Given the description of an element on the screen output the (x, y) to click on. 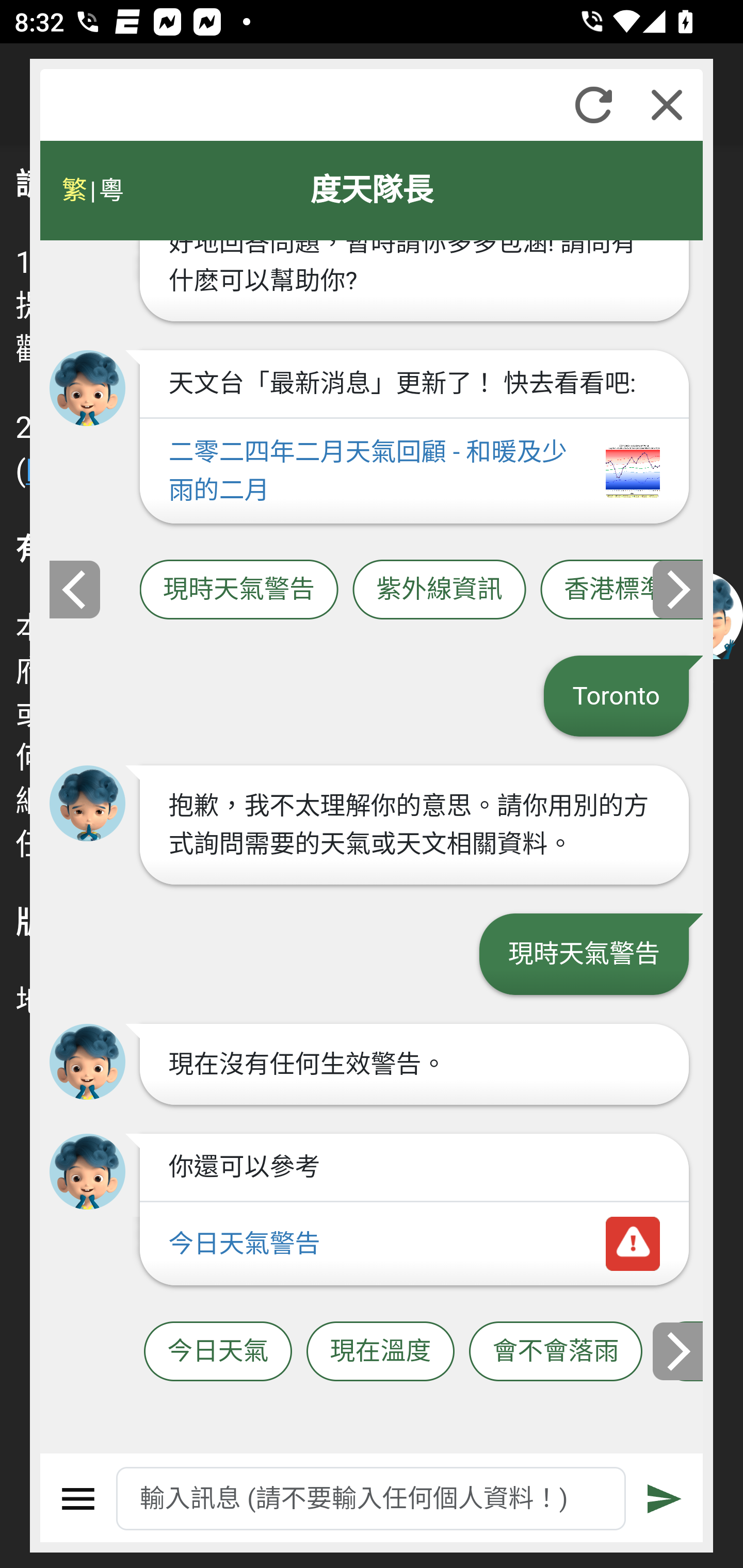
重新整理 (593, 104)
關閉 (666, 104)
繁 (73, 190)
粵 (110, 190)
二零二四年二月天氣回顧 - 和暖及少雨的二月 (413, 471)
上一張 (74, 589)
現時天氣警告 (238, 589)
紫外線資訊 (438, 589)
香港標準時間 (621, 589)
下一張 (678, 589)
今日天氣警告 (413, 1244)
今日天氣 (217, 1351)
現在溫度 (380, 1351)
會不會落雨 (555, 1351)
下一張 (678, 1351)
選單 (78, 1498)
遞交 (665, 1498)
